Given the description of an element on the screen output the (x, y) to click on. 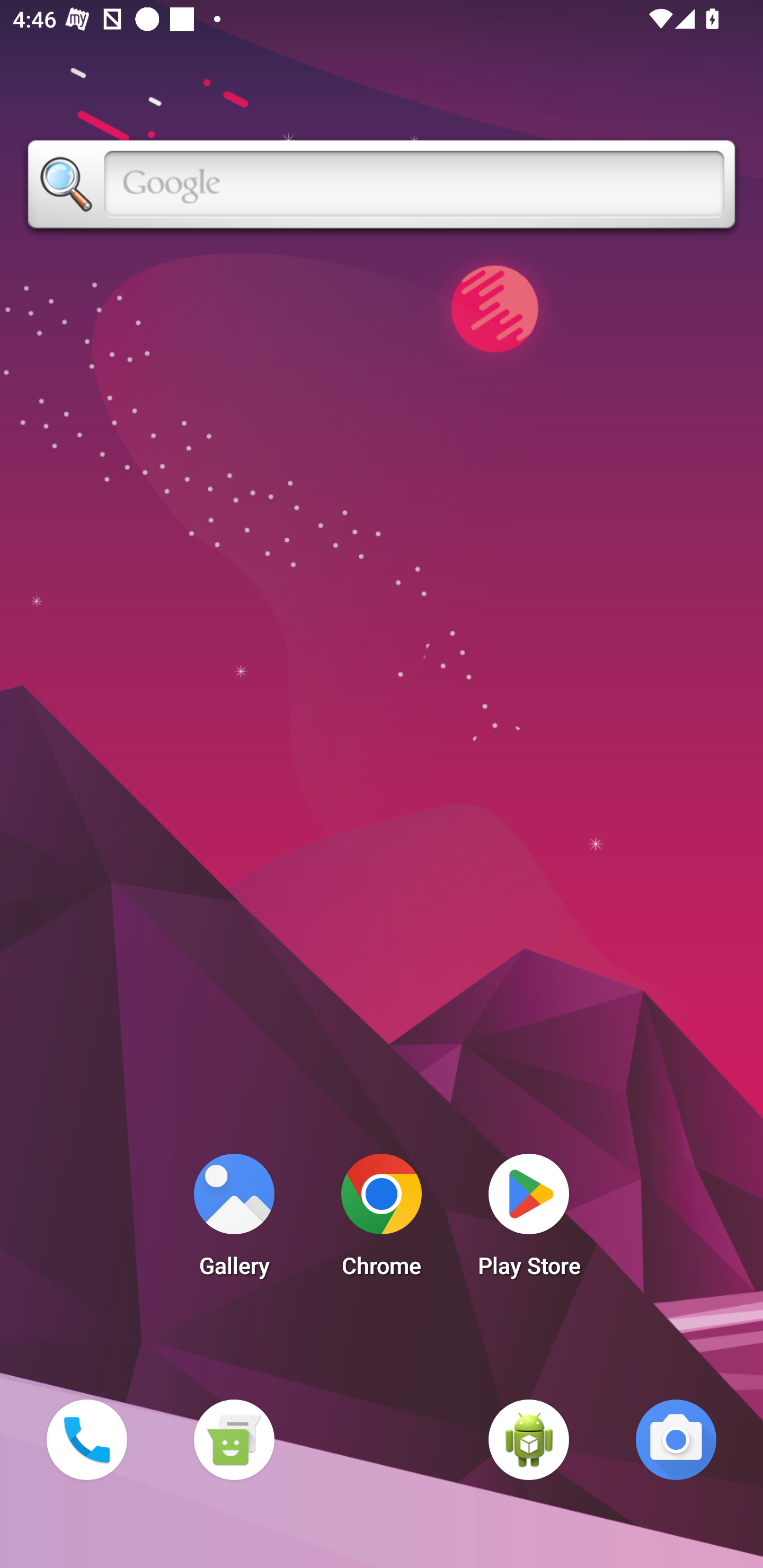
Gallery (233, 1220)
Chrome (381, 1220)
Play Store (528, 1220)
Phone (86, 1439)
Messaging (233, 1439)
WebView Browser Tester (528, 1439)
Camera (676, 1439)
